Given the description of an element on the screen output the (x, y) to click on. 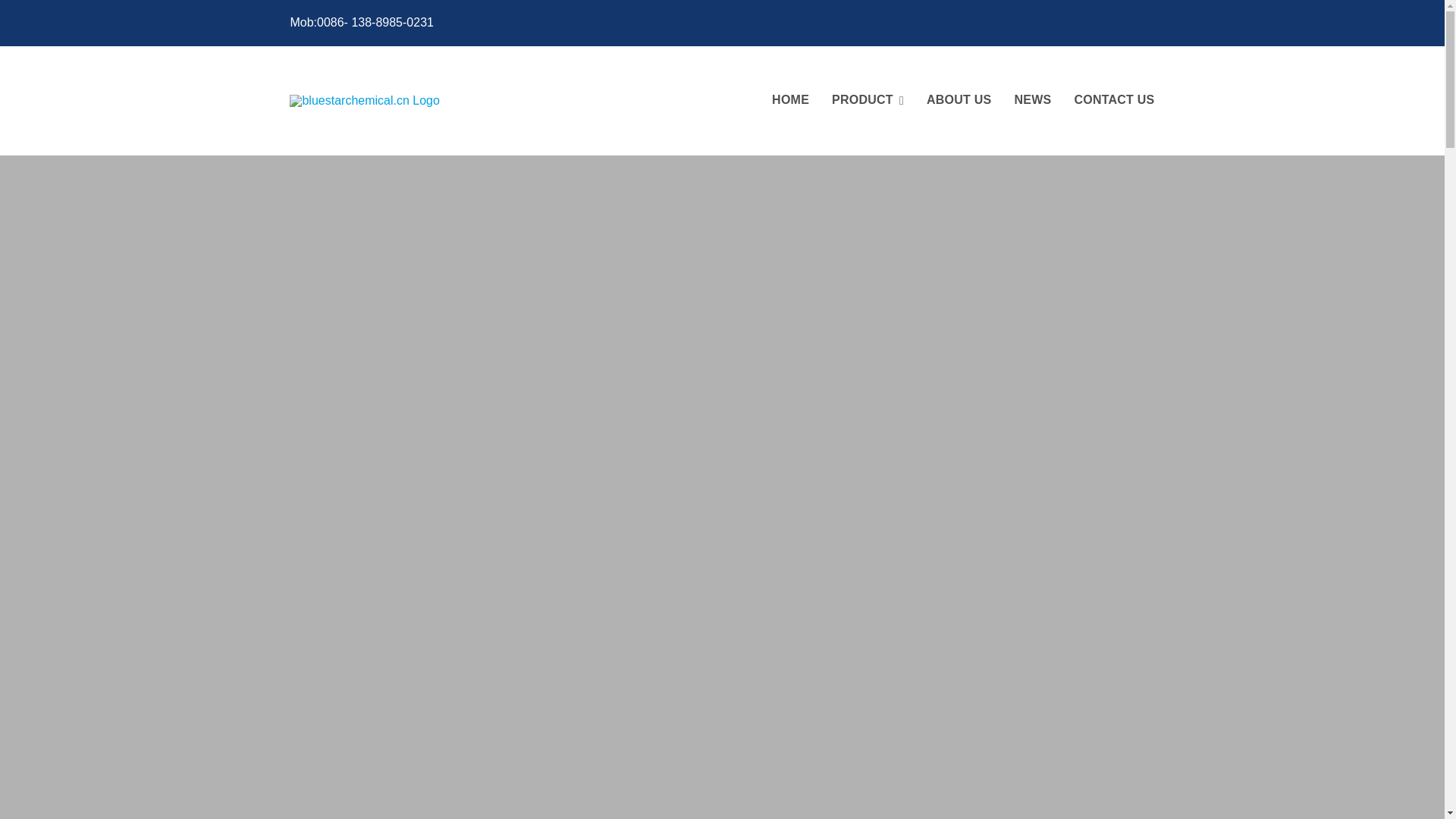
CONTACT US (1114, 100)
PRODUCT (867, 100)
ABOUT US (958, 100)
